Given the description of an element on the screen output the (x, y) to click on. 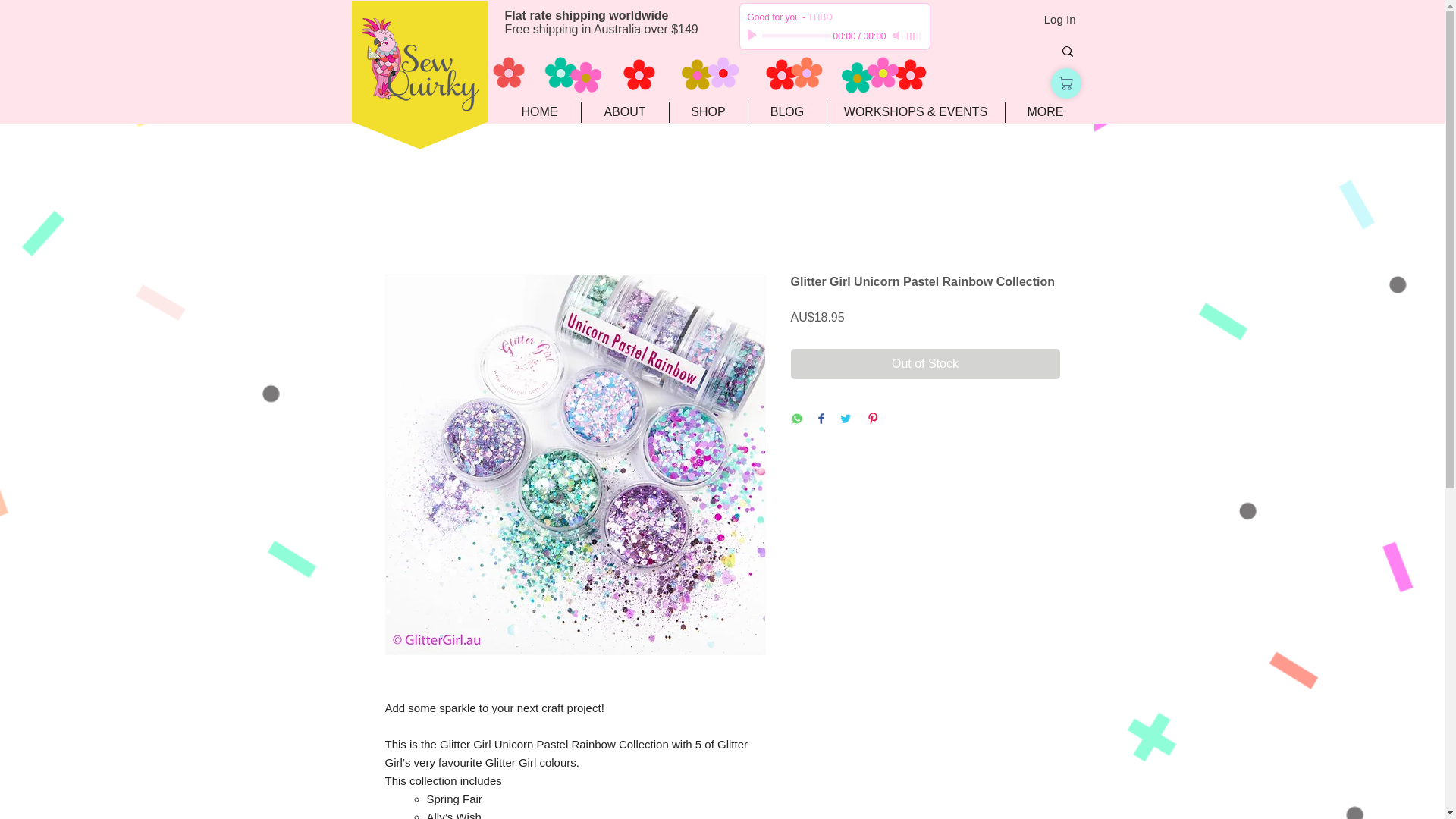
BLOG (787, 111)
Out of Stock (924, 363)
0 (795, 35)
HOME (539, 111)
ABOUT (624, 111)
Log In (1059, 18)
